Given the description of an element on the screen output the (x, y) to click on. 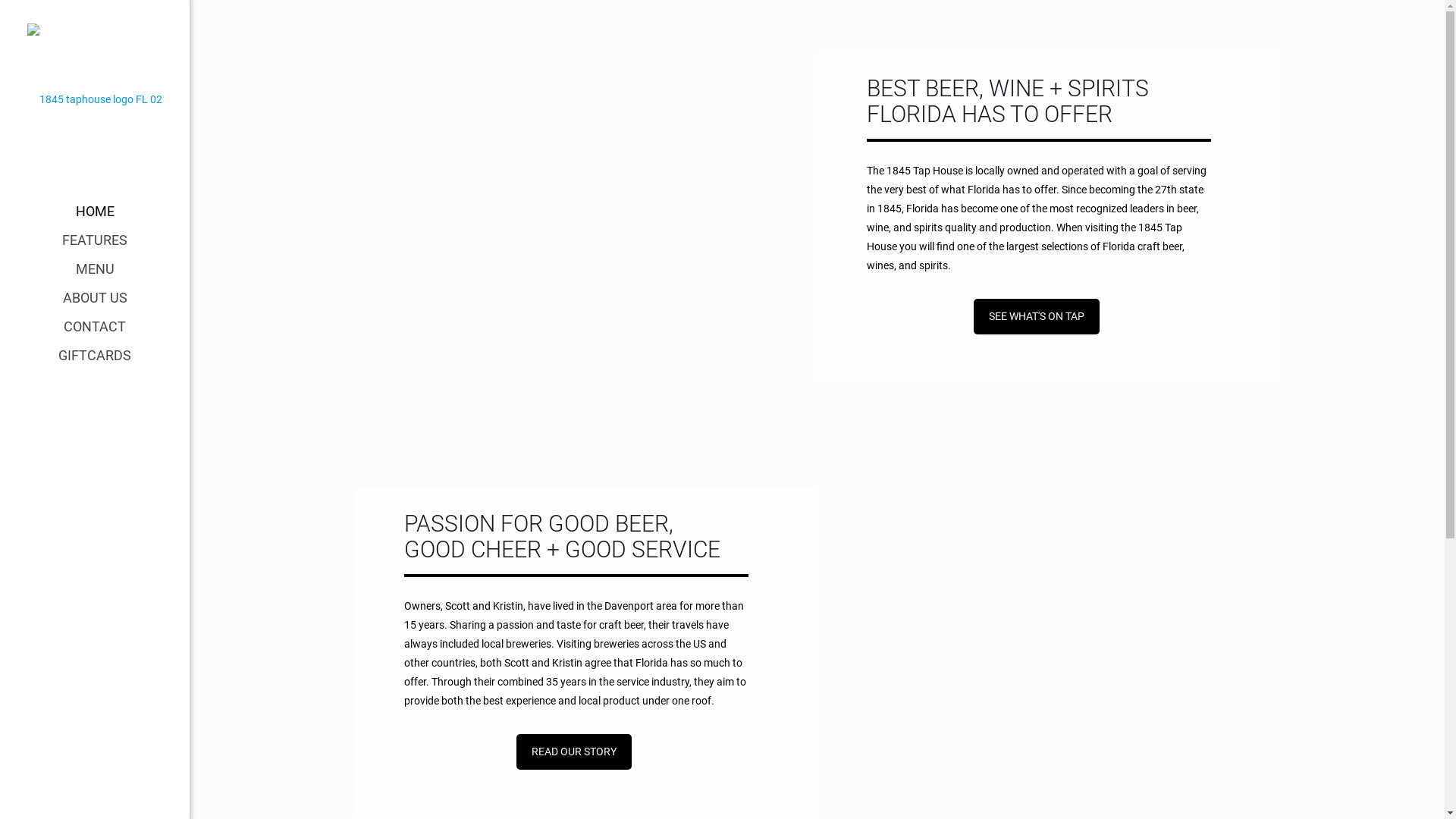
HOME Element type: text (94, 211)
SEE WHAT'S ON TAP Element type: text (1036, 316)
ABOUT US Element type: text (94, 297)
GIFTCARDS Element type: text (94, 355)
CONTACT Element type: text (94, 326)
READ OUR STORY Element type: text (573, 751)
MENU Element type: text (94, 268)
FEATURES Element type: text (94, 239)
1845 Taphouse Element type: hover (94, 98)
